Given the description of an element on the screen output the (x, y) to click on. 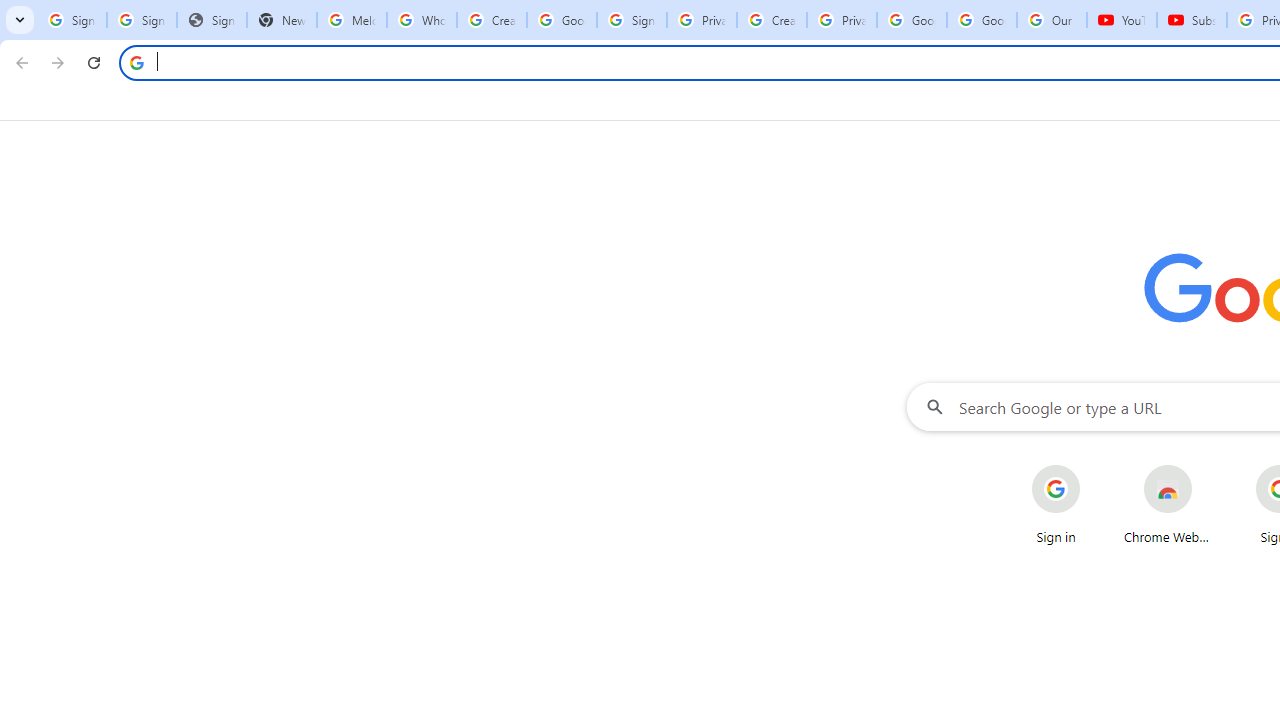
Create your Google Account (492, 20)
More actions for Chrome Web Store shortcut (1208, 466)
Google Account (982, 20)
YouTube (1121, 20)
Subscriptions - YouTube (1192, 20)
Create your Google Account (772, 20)
Who is my administrator? - Google Account Help (421, 20)
